Given the description of an element on the screen output the (x, y) to click on. 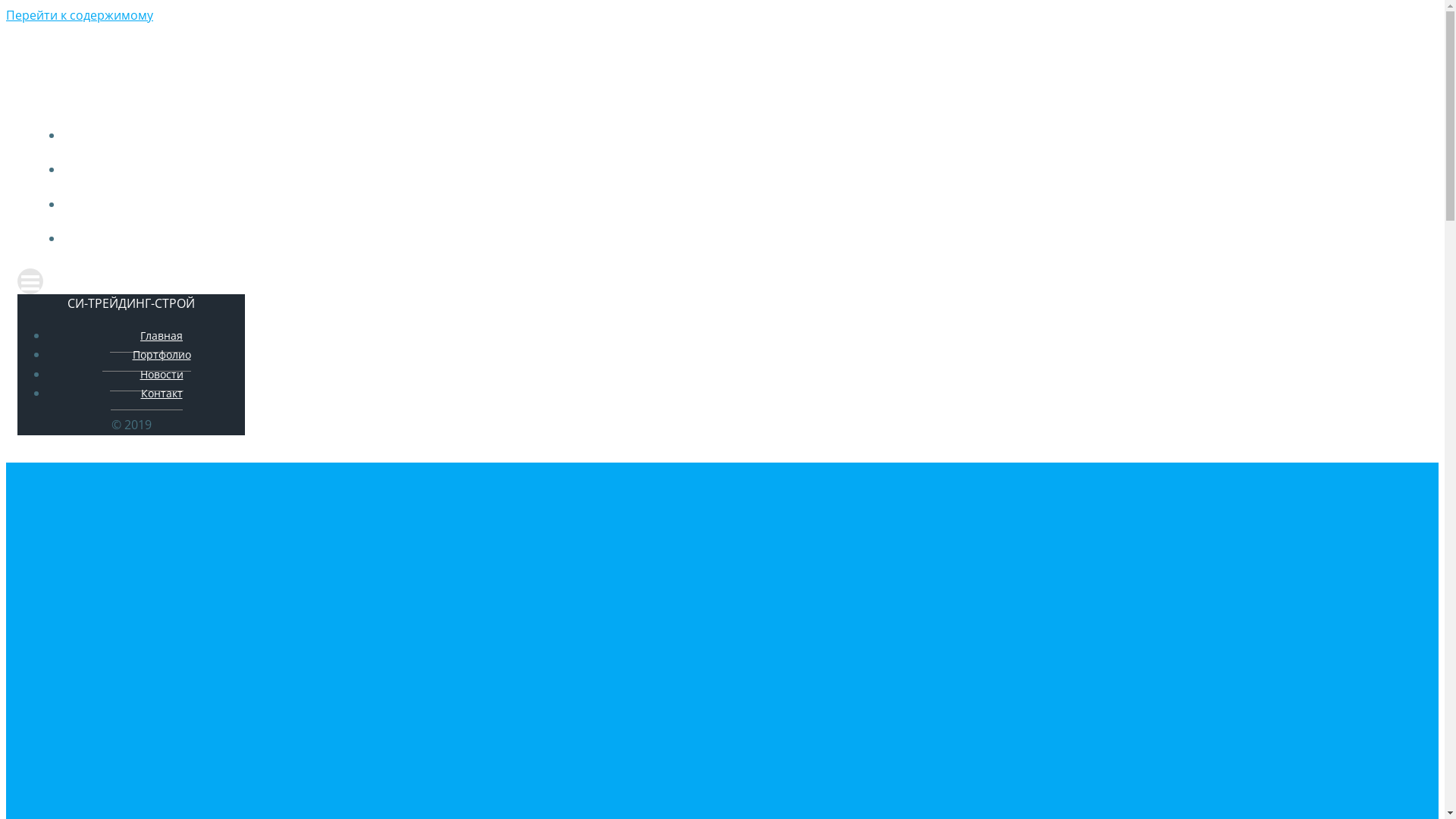
Menu Element type: hover (722, 281)
